Given the description of an element on the screen output the (x, y) to click on. 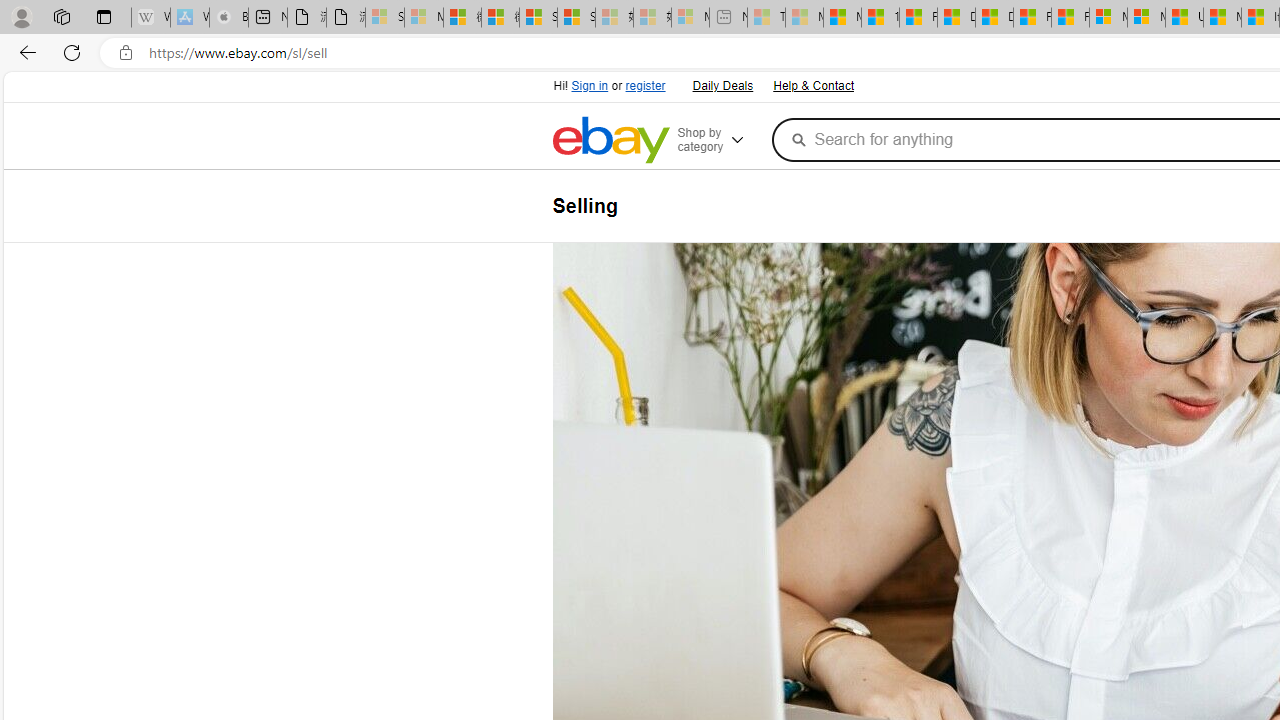
Drinking tea every day is proven to delay biological aging (993, 17)
eBay Home (610, 139)
Help & Contact (811, 84)
eBay Home (610, 139)
Daily Deals (722, 86)
